Given the description of an element on the screen output the (x, y) to click on. 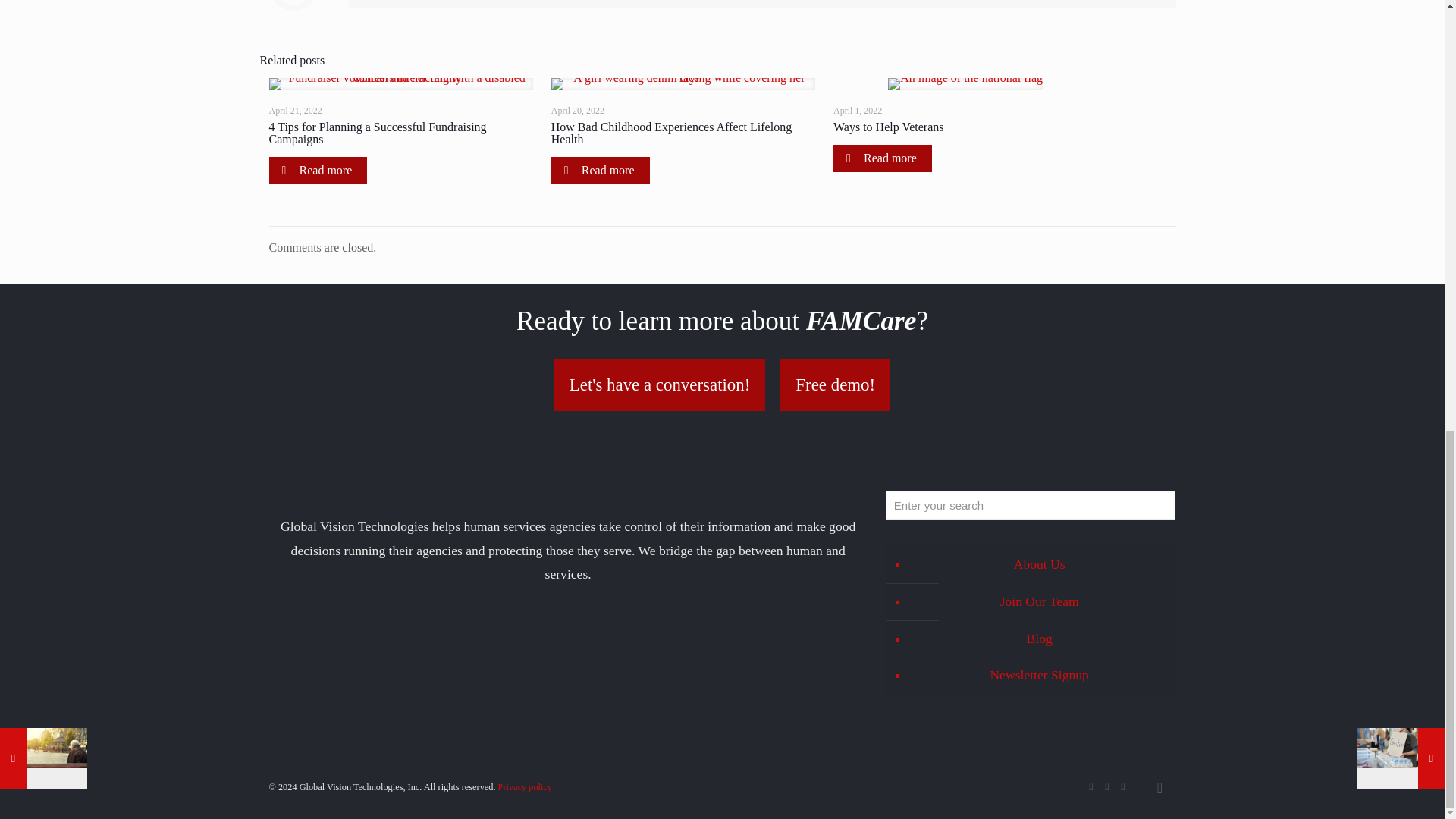
YouTube (1123, 786)
Facebook (1091, 786)
